Given the description of an element on the screen output the (x, y) to click on. 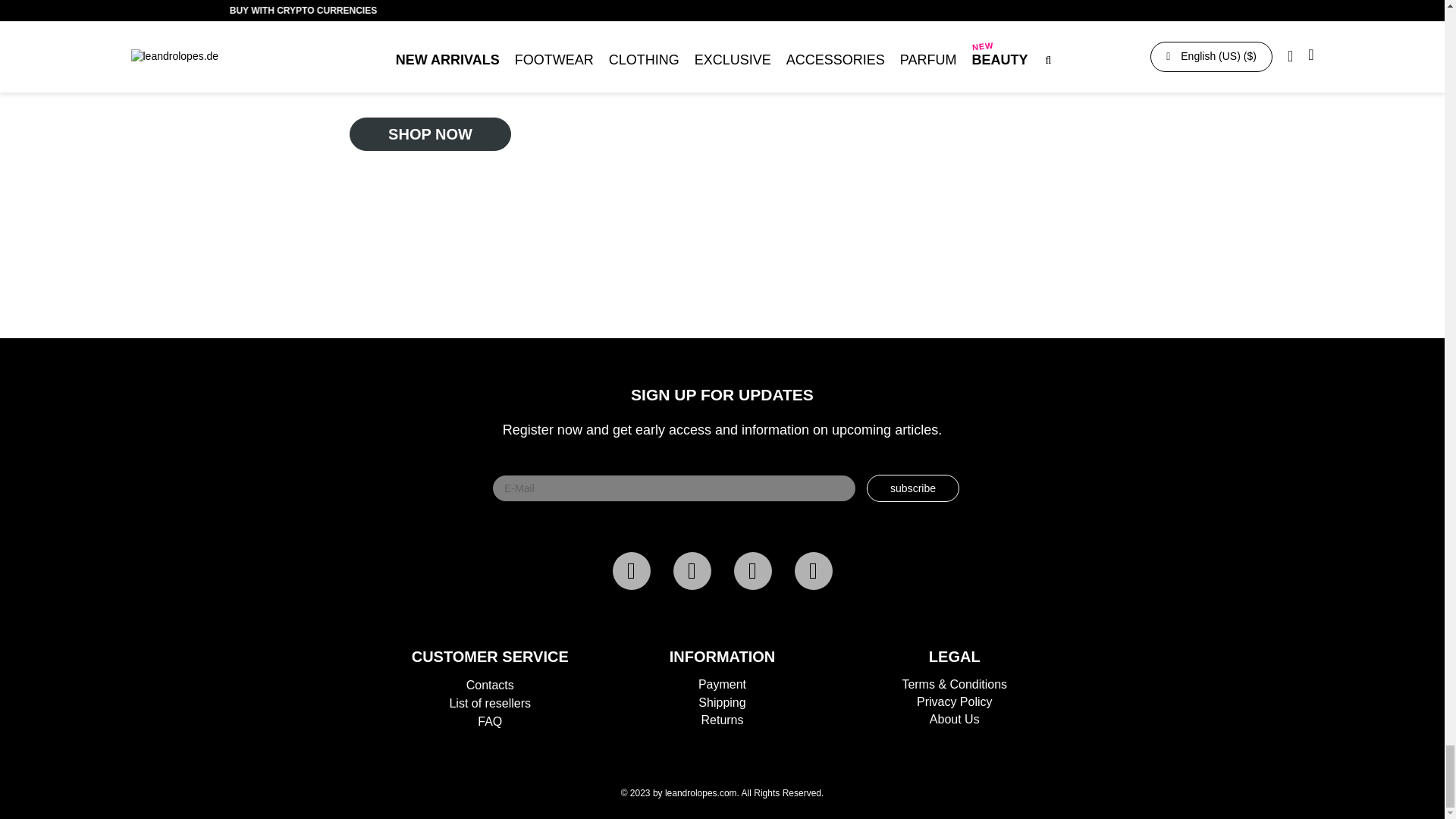
Subscribe (912, 488)
